Given the description of an element on the screen output the (x, y) to click on. 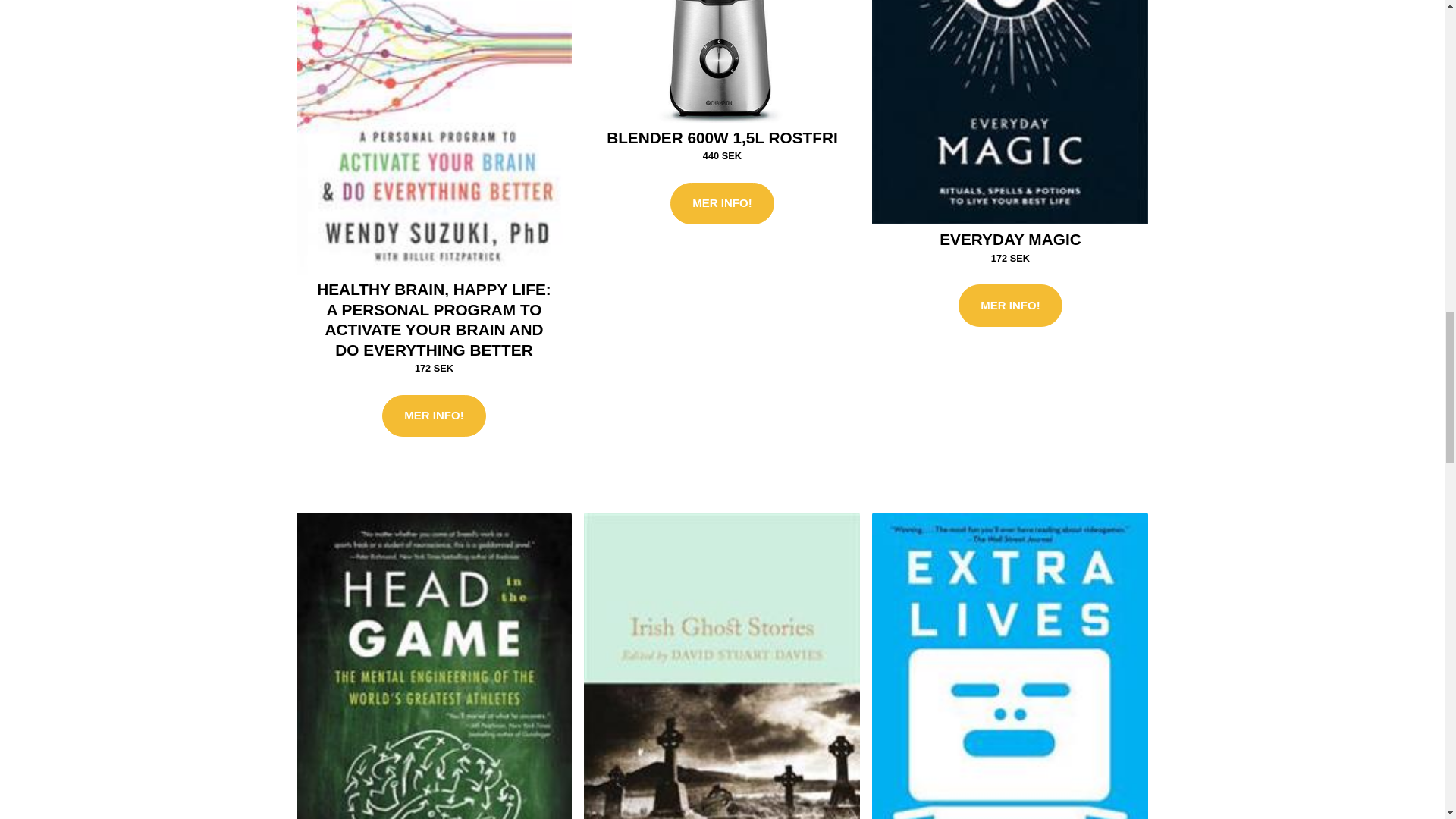
BLENDER 600W 1,5L ROSTFRI (722, 137)
MER INFO! (1009, 305)
MER INFO! (432, 415)
EVERYDAY MAGIC (1009, 239)
MER INFO! (721, 203)
